Given the description of an element on the screen output the (x, y) to click on. 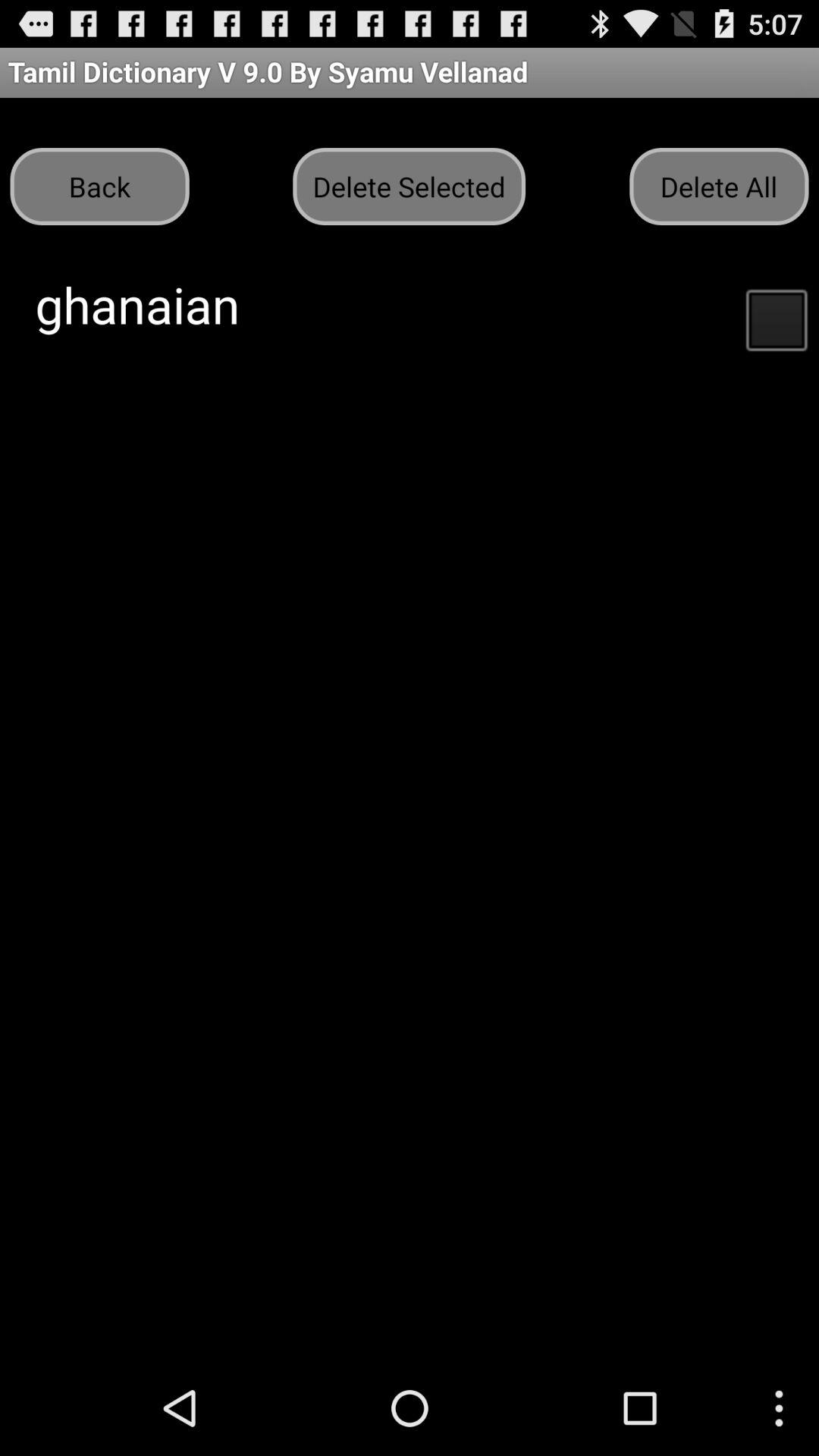
tap item next to ghanaian (775, 318)
